Given the description of an element on the screen output the (x, y) to click on. 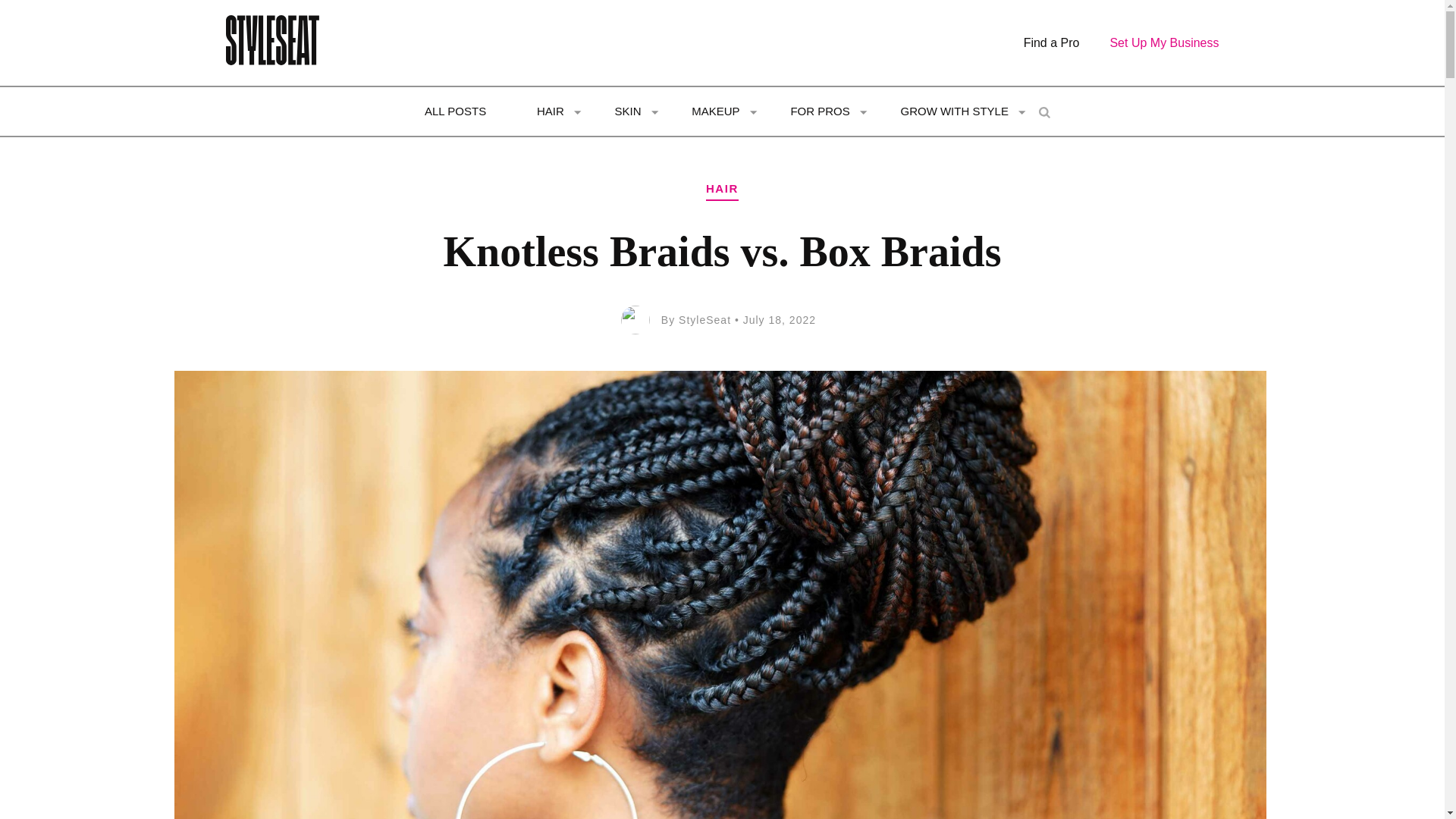
GROW WITH STYLE (954, 112)
StyleSeat (704, 319)
StyleSeat Pro Beauty Blog (262, 44)
FOR PROS (819, 112)
ALL POSTS (455, 112)
Find a Pro (1051, 42)
Set Up My Business (1163, 42)
HAIR (722, 190)
